Given the description of an element on the screen output the (x, y) to click on. 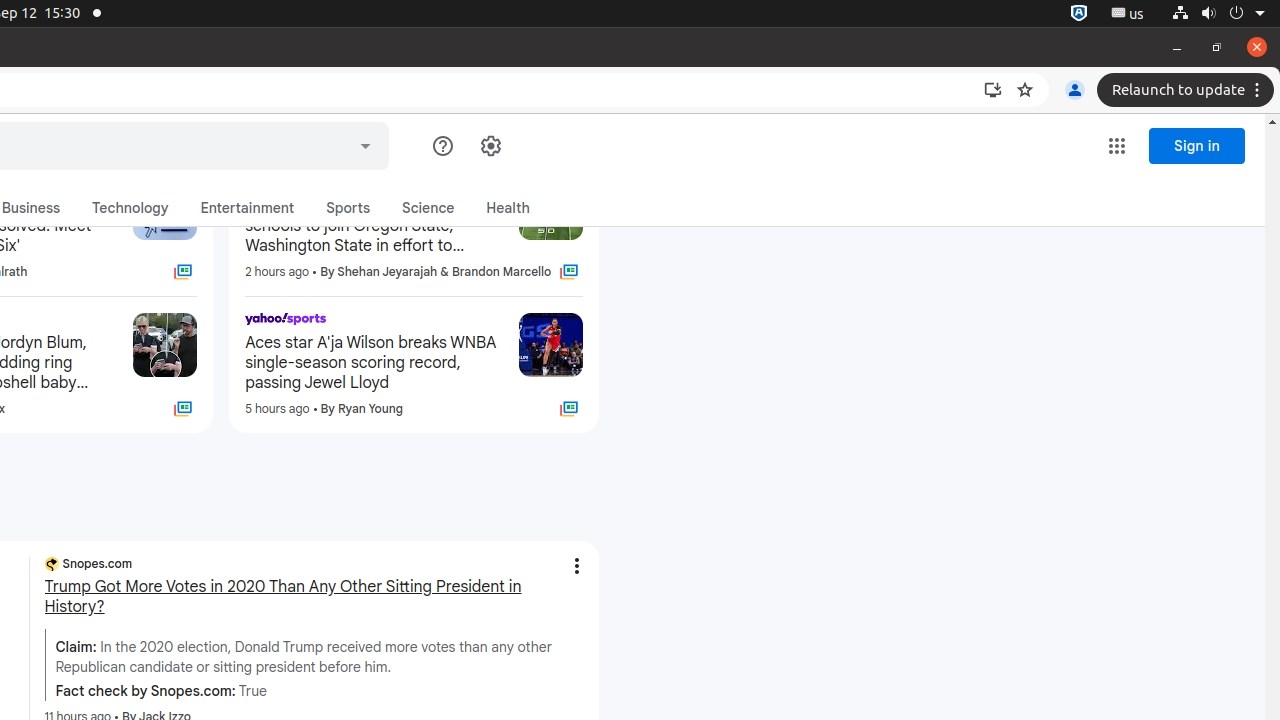
Business Element type: menu-item (31, 208)
Aces star A'ja Wilson breaks WNBA single-season scoring record, passing Jewel Lloyd Element type: link (374, 362)
Advanced search Element type: push-button (365, 143)
Bookmark this tab Element type: push-button (1025, 90)
System Element type: menu (1218, 13)
